Given the description of an element on the screen output the (x, y) to click on. 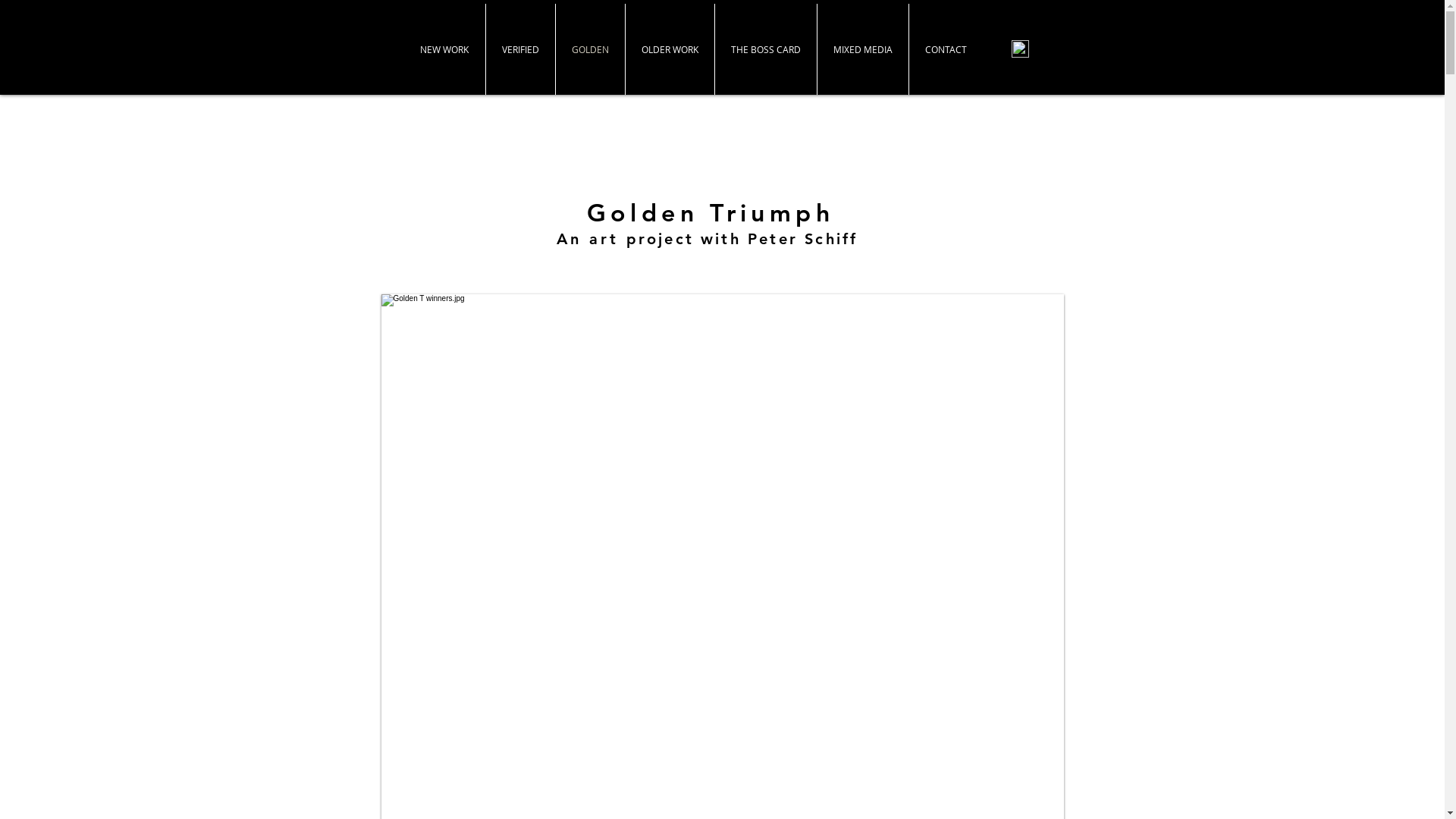
OLDER WORK Element type: text (668, 48)
MIXED MEDIA Element type: text (862, 48)
THE BOSS CARD Element type: text (764, 48)
NEW WORK Element type: text (443, 48)
CONTACT Element type: text (945, 48)
VERIFIED Element type: text (519, 48)
GOLDEN Element type: text (589, 48)
